Given the description of an element on the screen output the (x, y) to click on. 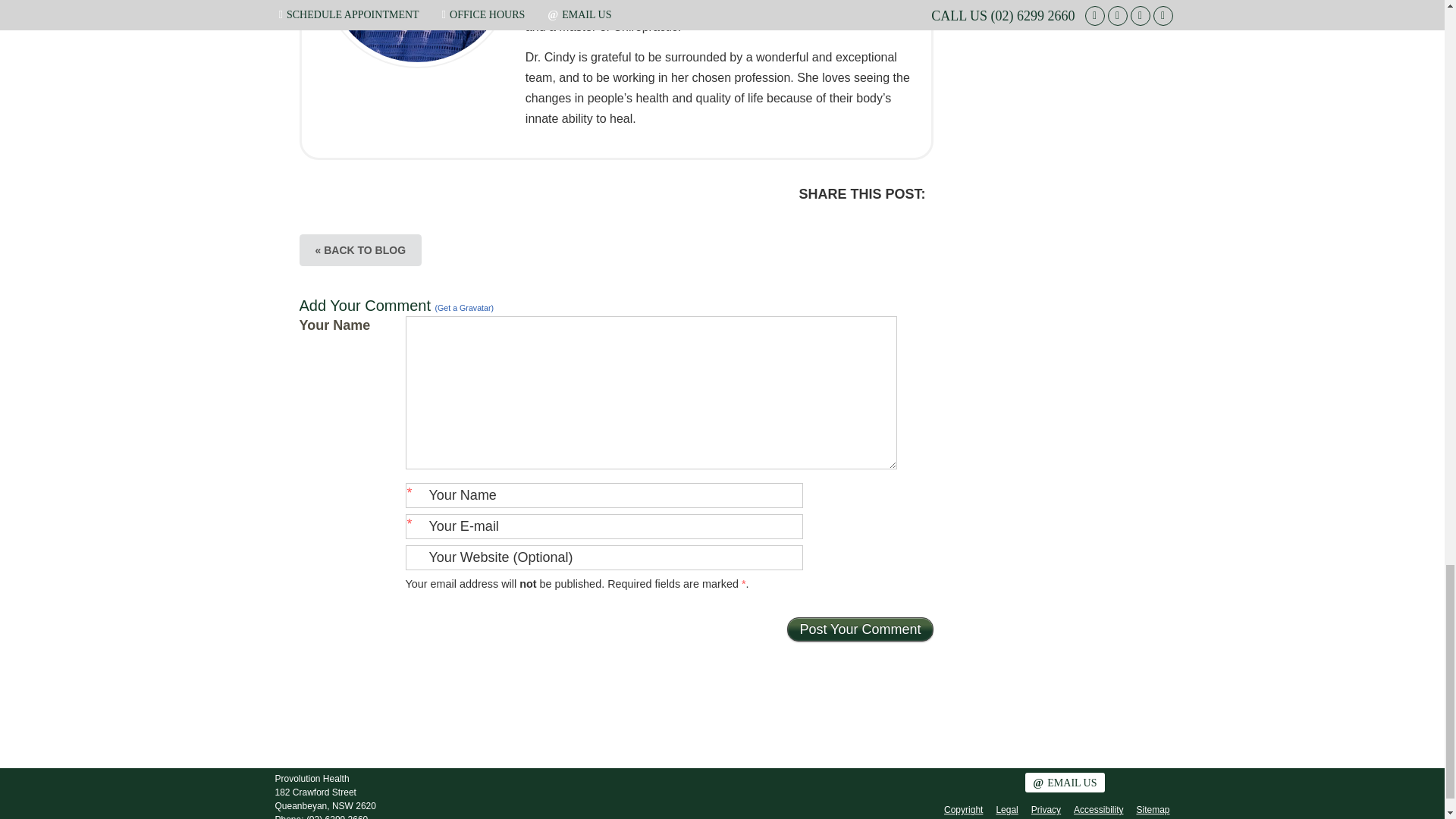
Your Name (603, 495)
Share on Twitter (811, 221)
Share on Facebook (843, 221)
Your Name (603, 495)
Contact (1064, 782)
Post Your Comment (860, 629)
Your E-mail (603, 526)
Share via Email (874, 221)
Post Your Comment (860, 629)
Your E-mail (603, 526)
